Given the description of an element on the screen output the (x, y) to click on. 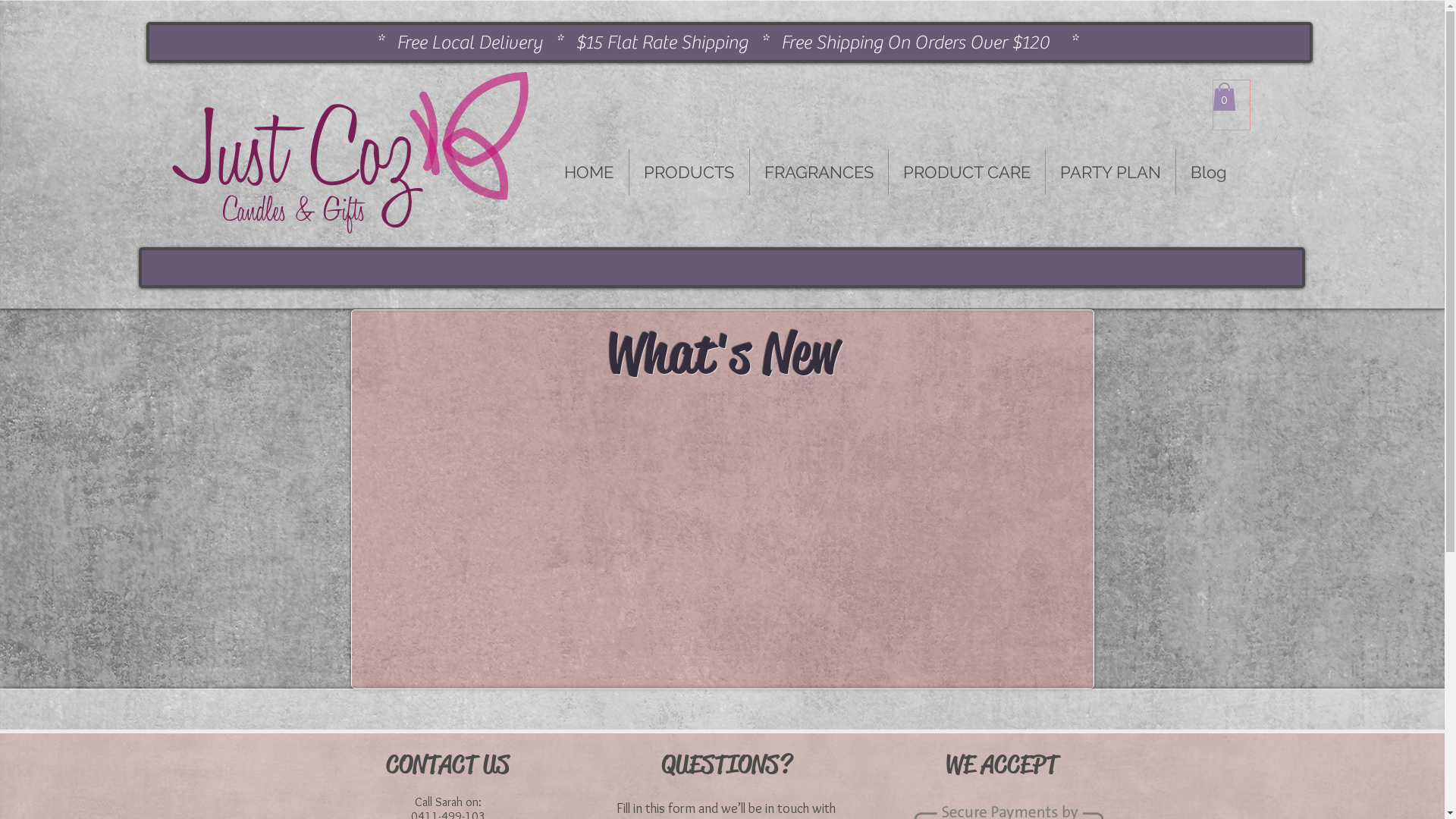
PRODUCTS Element type: text (689, 171)
PARTY PLAN Element type: text (1109, 171)
PRODUCT CARE Element type: text (966, 171)
Blog Element type: text (1207, 171)
0 Element type: text (1223, 96)
HOME Element type: text (588, 171)
FRAGRANCES Element type: text (818, 171)
